Given the description of an element on the screen output the (x, y) to click on. 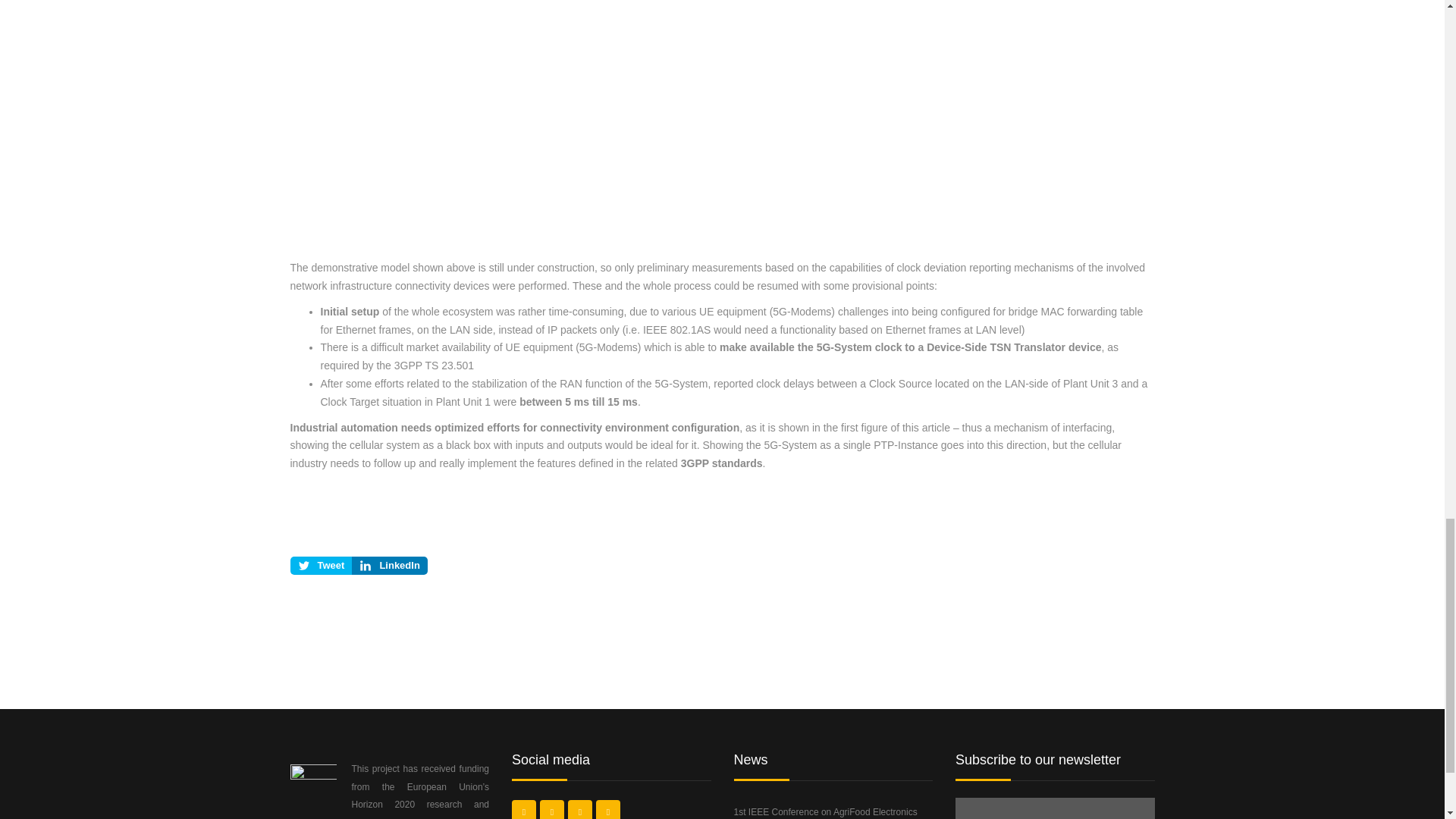
Share on Twitter (320, 565)
Tweet (320, 565)
LinkedIn (389, 565)
Share on LinkedIn (389, 565)
